Given the description of an element on the screen output the (x, y) to click on. 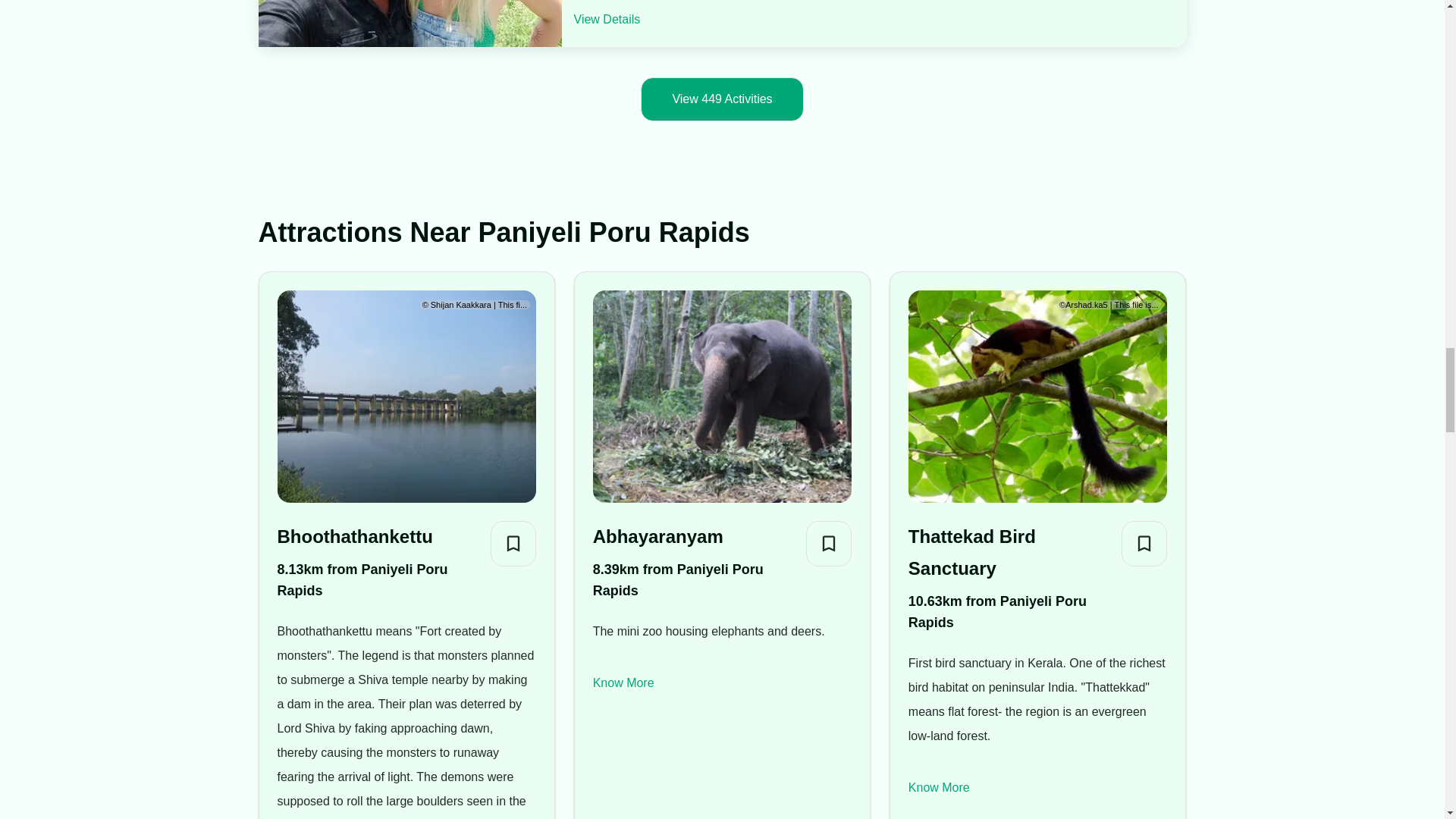
Add to Bucket List (512, 543)
Add to Bucket List (828, 543)
Add to Bucket List (1144, 543)
